Given the description of an element on the screen output the (x, y) to click on. 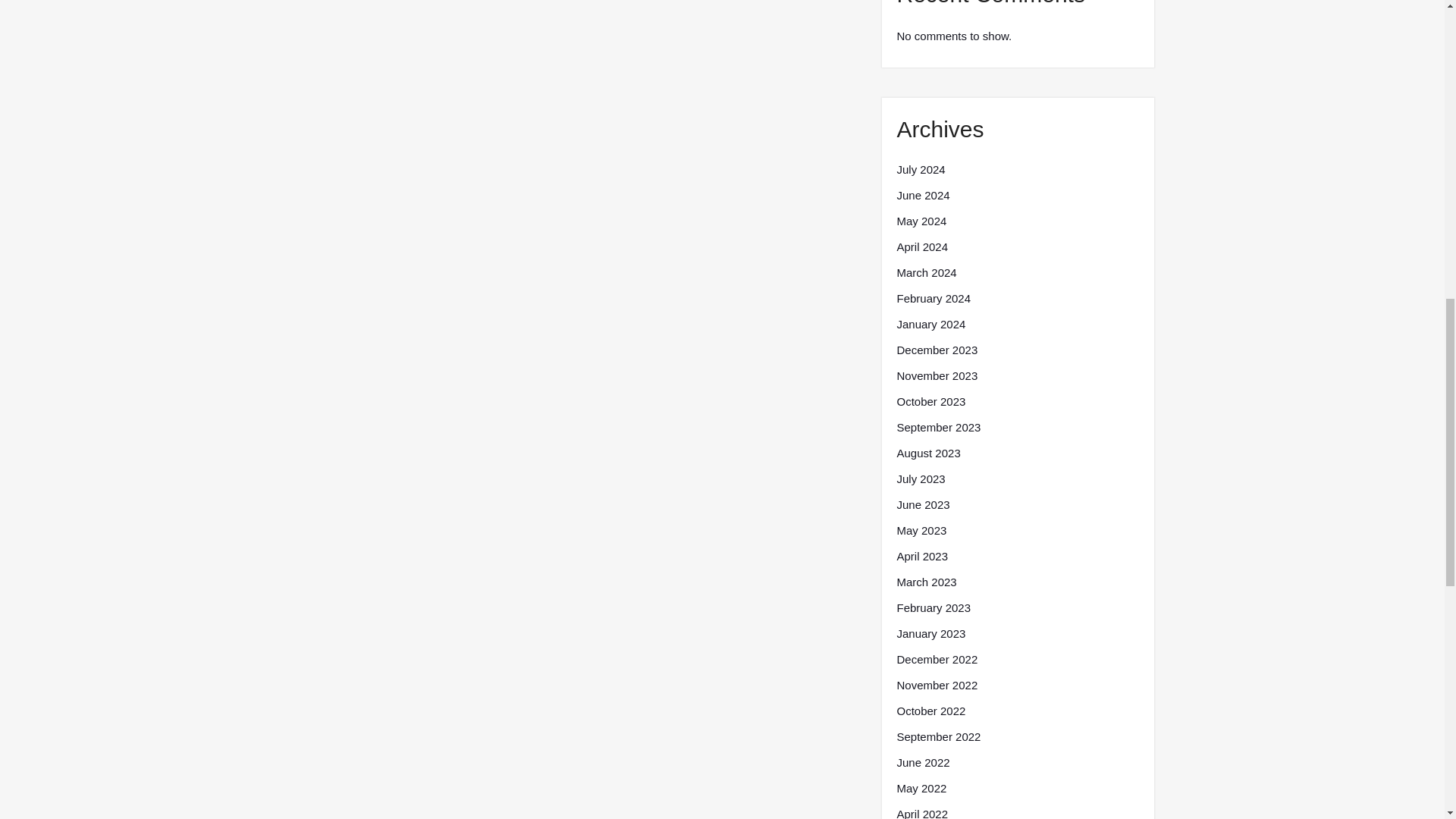
November 2022 (936, 685)
July 2024 (920, 169)
November 2023 (936, 375)
December 2023 (936, 350)
January 2023 (930, 633)
September 2023 (937, 427)
July 2023 (920, 479)
March 2023 (926, 582)
April 2024 (921, 247)
February 2024 (933, 298)
May 2023 (921, 530)
March 2024 (926, 272)
October 2023 (930, 402)
May 2024 (921, 221)
September 2022 (937, 737)
